Given the description of an element on the screen output the (x, y) to click on. 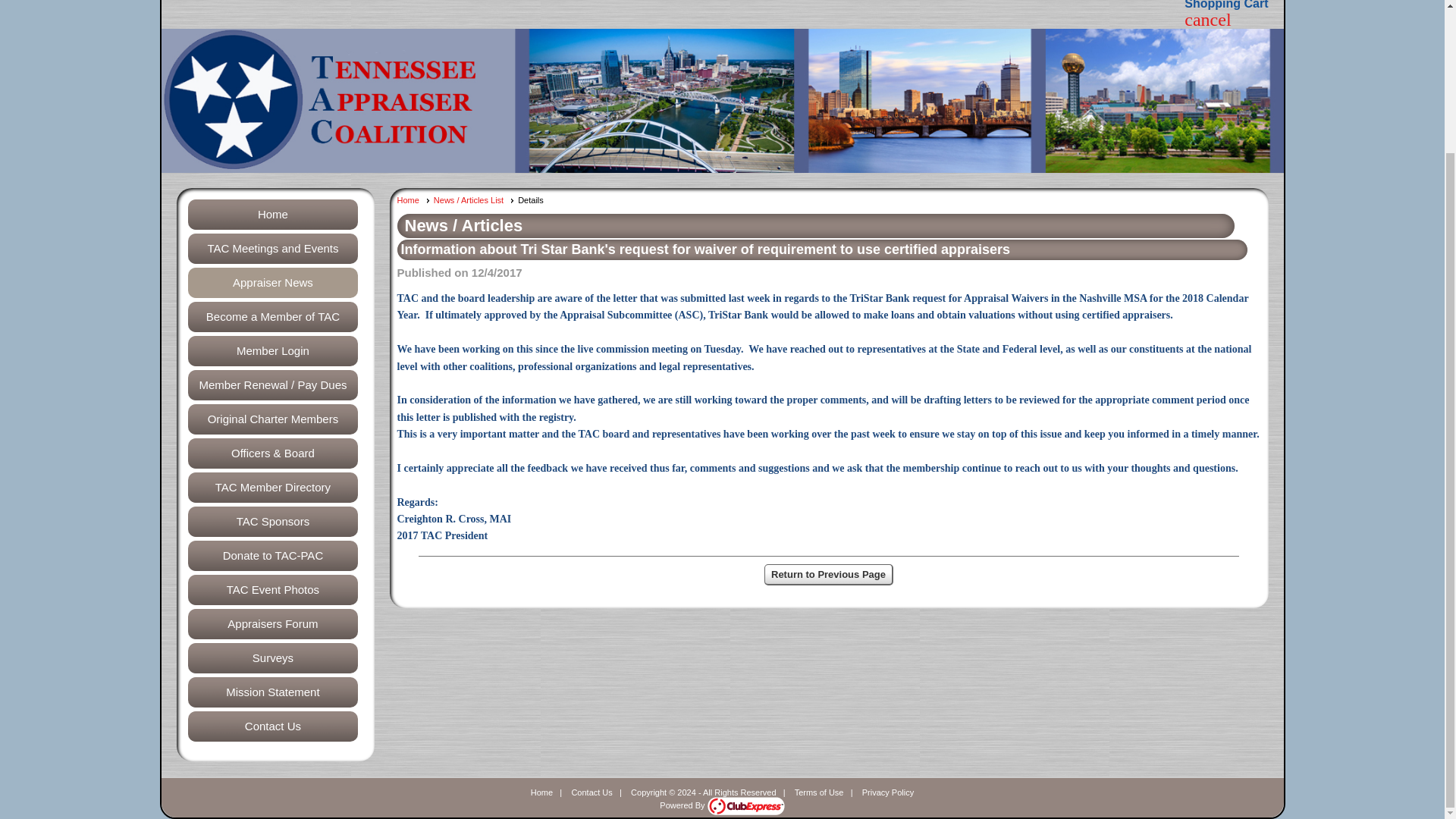
Home (413, 199)
Surveys (271, 657)
cancel (1207, 21)
Opens a widget where you can find more information (1389, 614)
Contact Us (590, 791)
Original Charter Members (271, 419)
Become a Member of TAC (271, 317)
Donate to TAC-PAC (271, 555)
TAC Member Directory (271, 487)
Appraiser News (271, 282)
TAC Sponsors (271, 521)
Terms of Use (819, 791)
Home (542, 791)
Mission Statement (271, 692)
Member Login (271, 350)
